Given the description of an element on the screen output the (x, y) to click on. 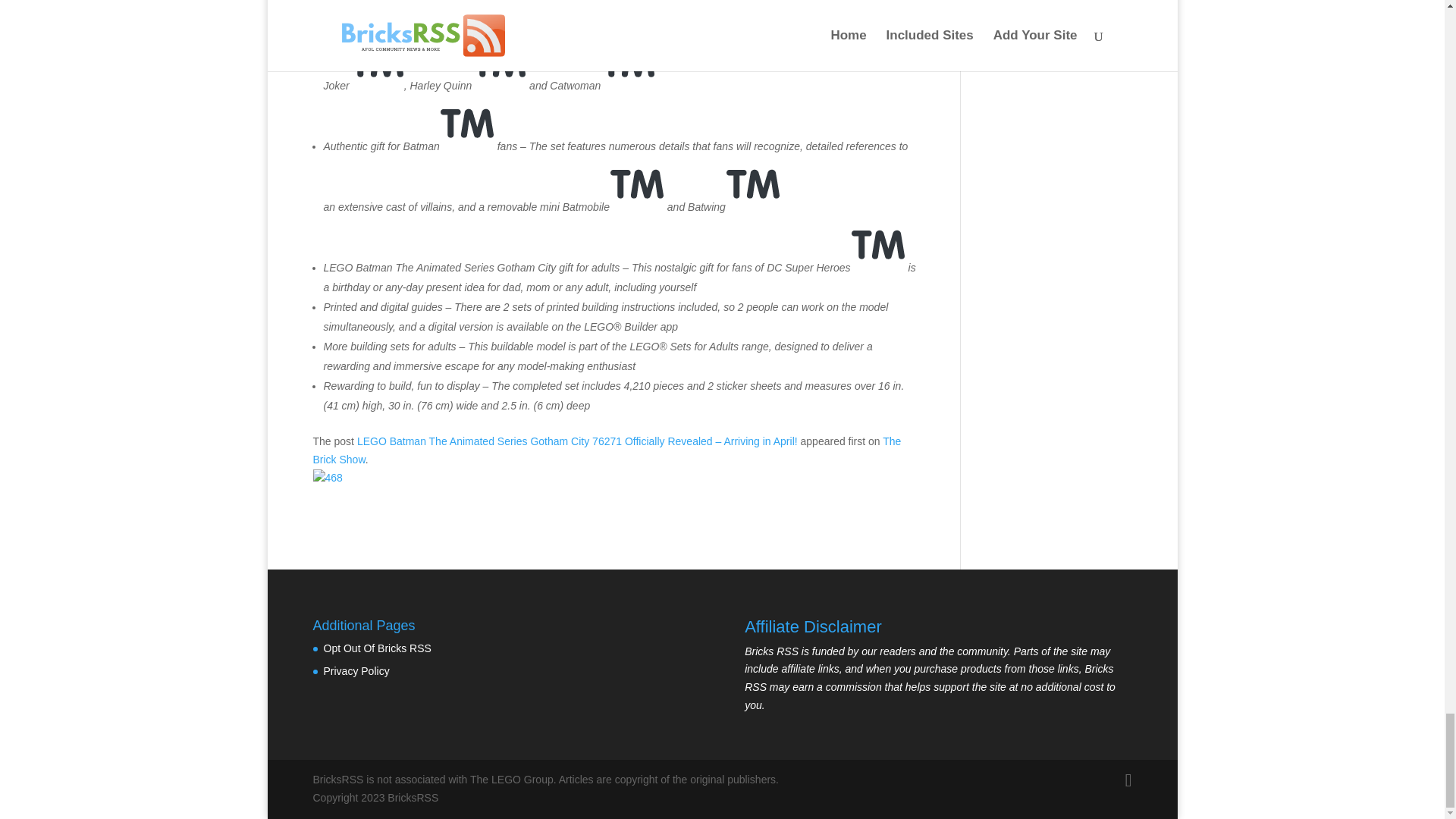
The Brick Show (607, 450)
